Given the description of an element on the screen output the (x, y) to click on. 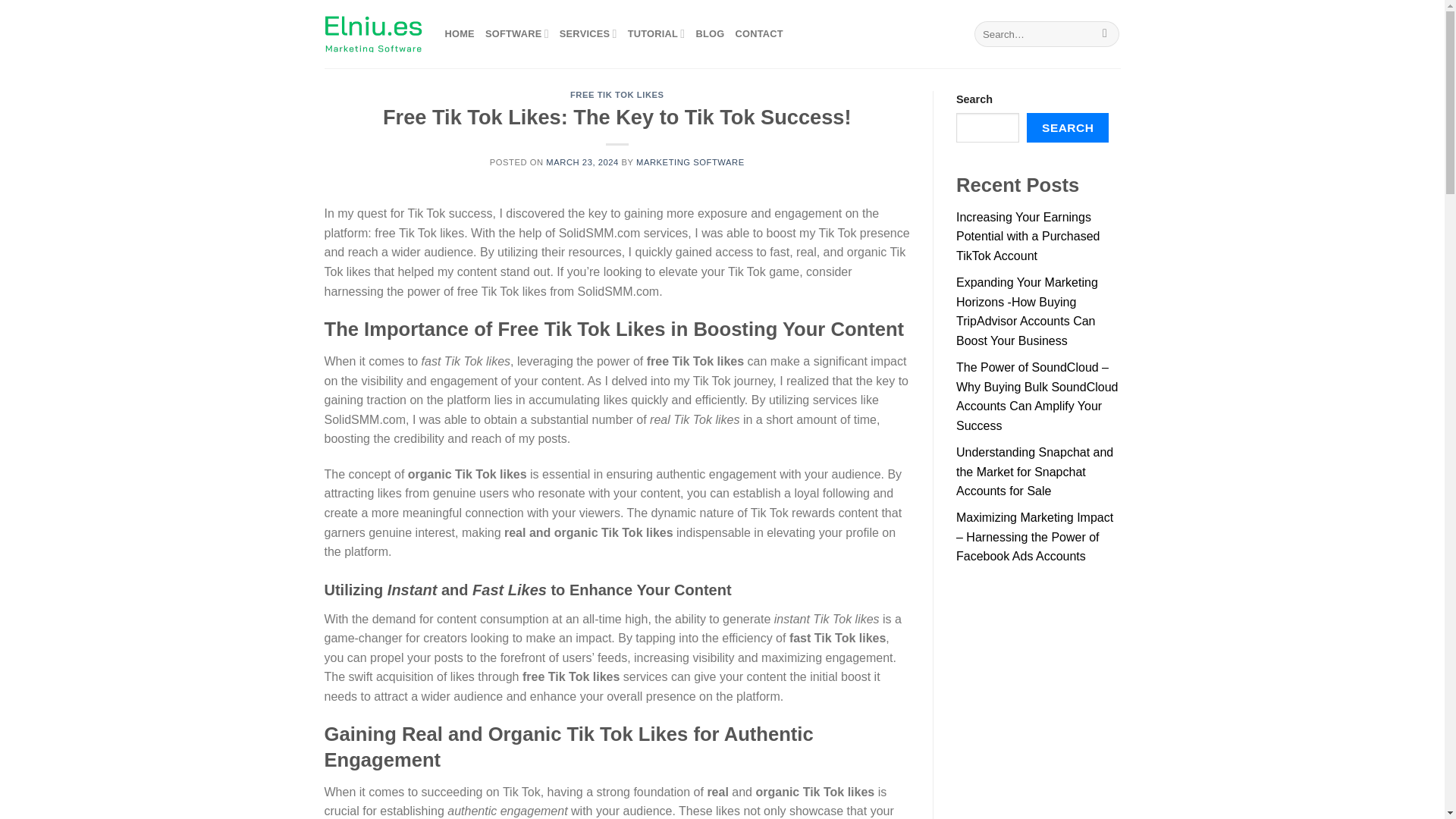
SOFTWARE (516, 33)
SERVICES (588, 33)
FREE TIK TOK LIKES (616, 94)
HOME (459, 33)
MARKETING SOFTWARE (690, 162)
MARCH 23, 2024 (582, 162)
CONTACT (759, 33)
BLOG (709, 33)
Marketing Software (373, 34)
TUTORIAL (656, 33)
